Given the description of an element on the screen output the (x, y) to click on. 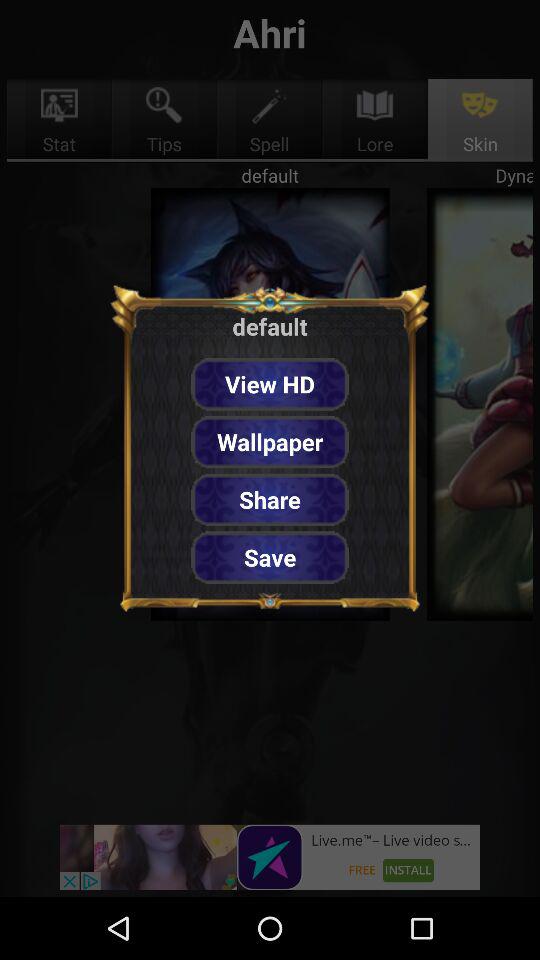
choose the app below default (269, 384)
